Given the description of an element on the screen output the (x, y) to click on. 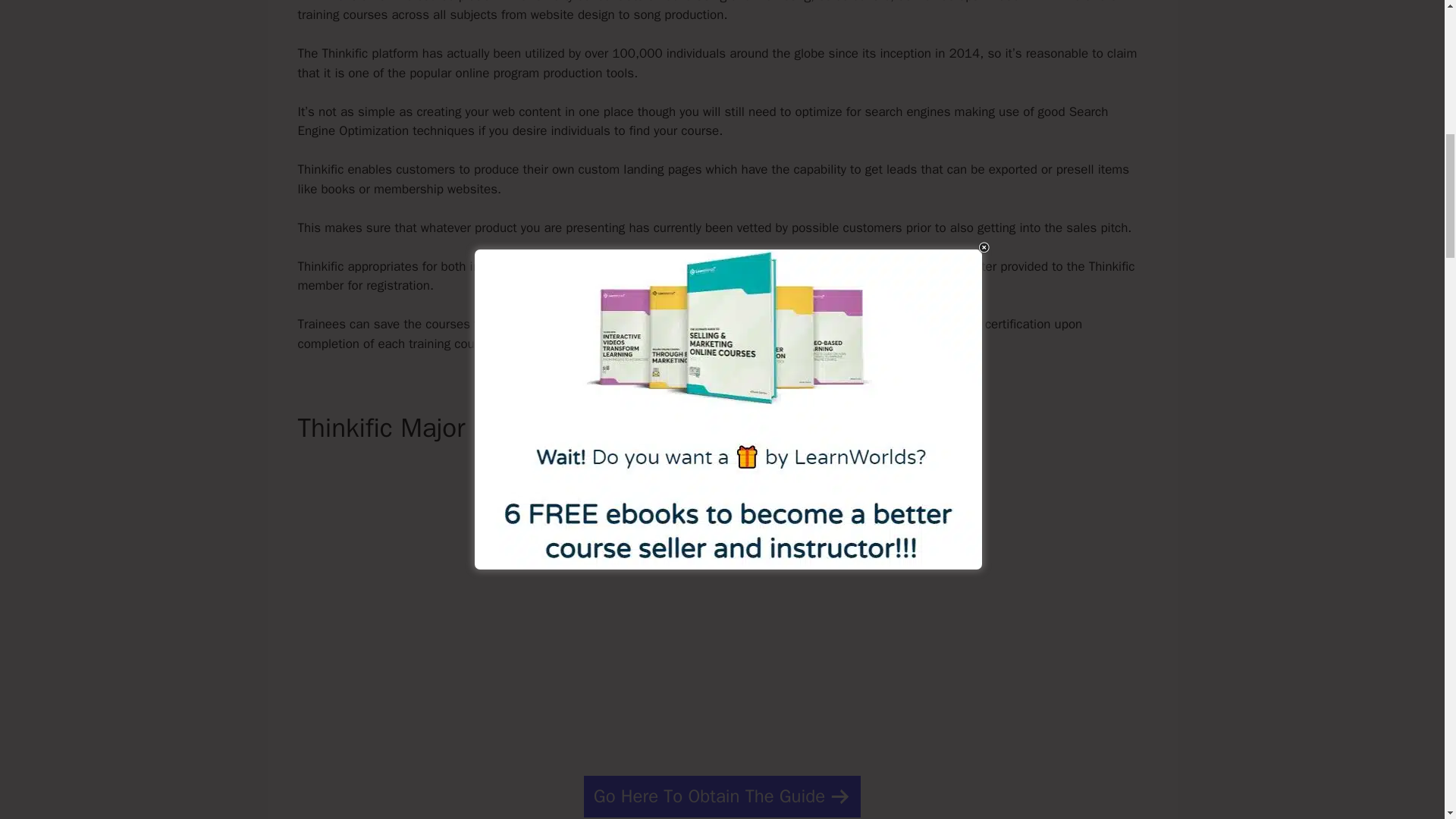
Thinkific (320, 2)
Go Here To Obtain The Guide (721, 796)
Scroll back to top (1406, 720)
